Given the description of an element on the screen output the (x, y) to click on. 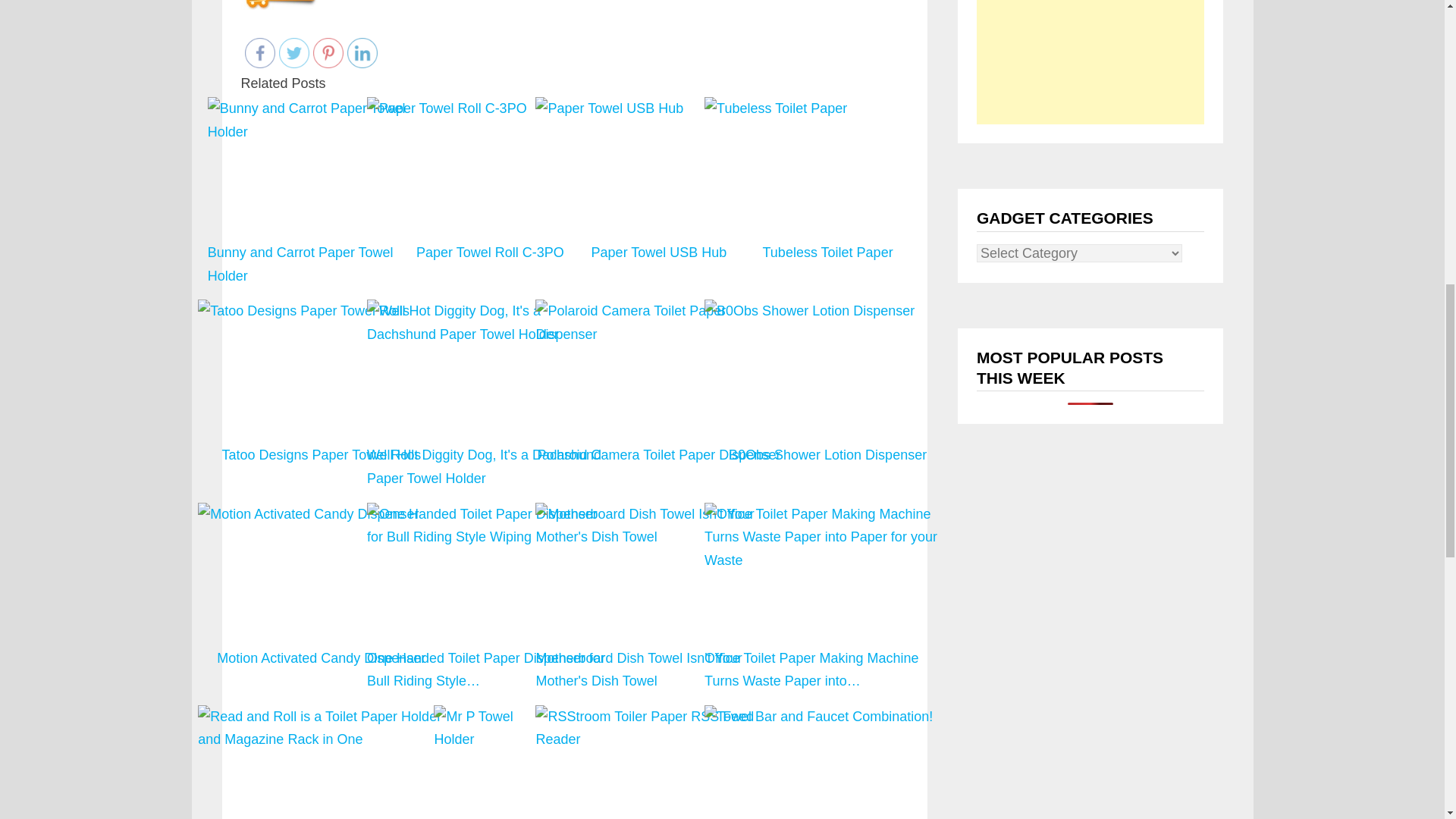
Bunny and Carrot Paper Towel Holder (321, 210)
Facebook (259, 52)
Tatoo Designs Paper Towel Rolls (320, 394)
Paper Towel Roll C-3PO (490, 192)
LinkedIn (362, 52)
Mr P Towel Holder (489, 760)
Bunny and Carrot Paper Towel Holder (321, 192)
Twitter (293, 52)
Motion Activated Candy Dispenser (320, 597)
Well Hot Diggity Dog, It's a Dachshund Paper Towel Holder (490, 394)
Motherboard Dish Towel Isn't Your Mother's Dish Towel (658, 597)
Tatoo Designs Paper Towel Rolls (321, 310)
Tubeless Toilet Paper (827, 108)
B0Obs Shower Lotion Dispenser (827, 394)
buy now (279, 4)
